Given the description of an element on the screen output the (x, y) to click on. 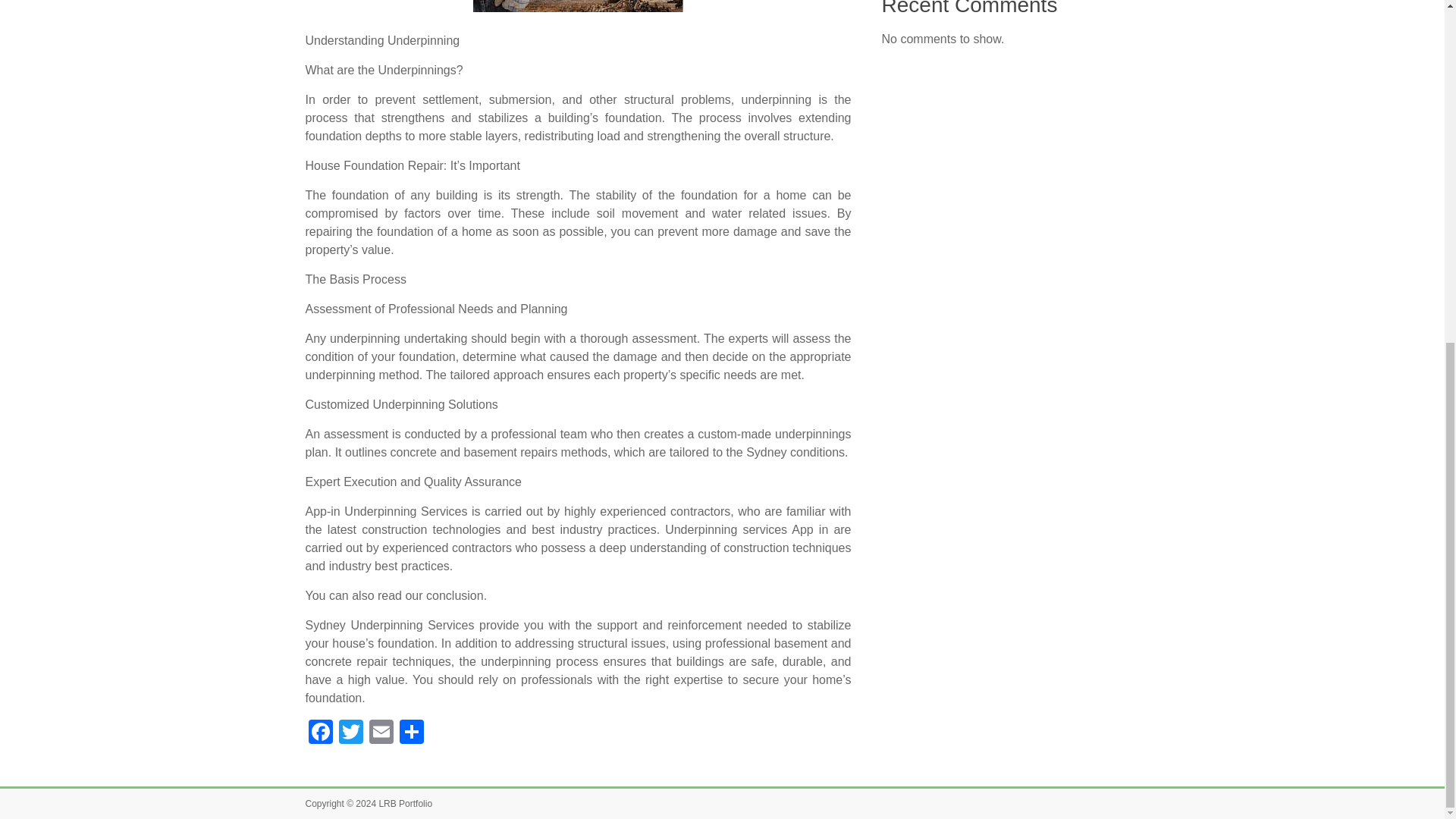
Facebook (319, 733)
Facebook (319, 733)
Email (380, 733)
LRB Portfolio (405, 803)
Twitter (349, 733)
LRB Portfolio (405, 803)
Email (380, 733)
Twitter (349, 733)
